Given the description of an element on the screen output the (x, y) to click on. 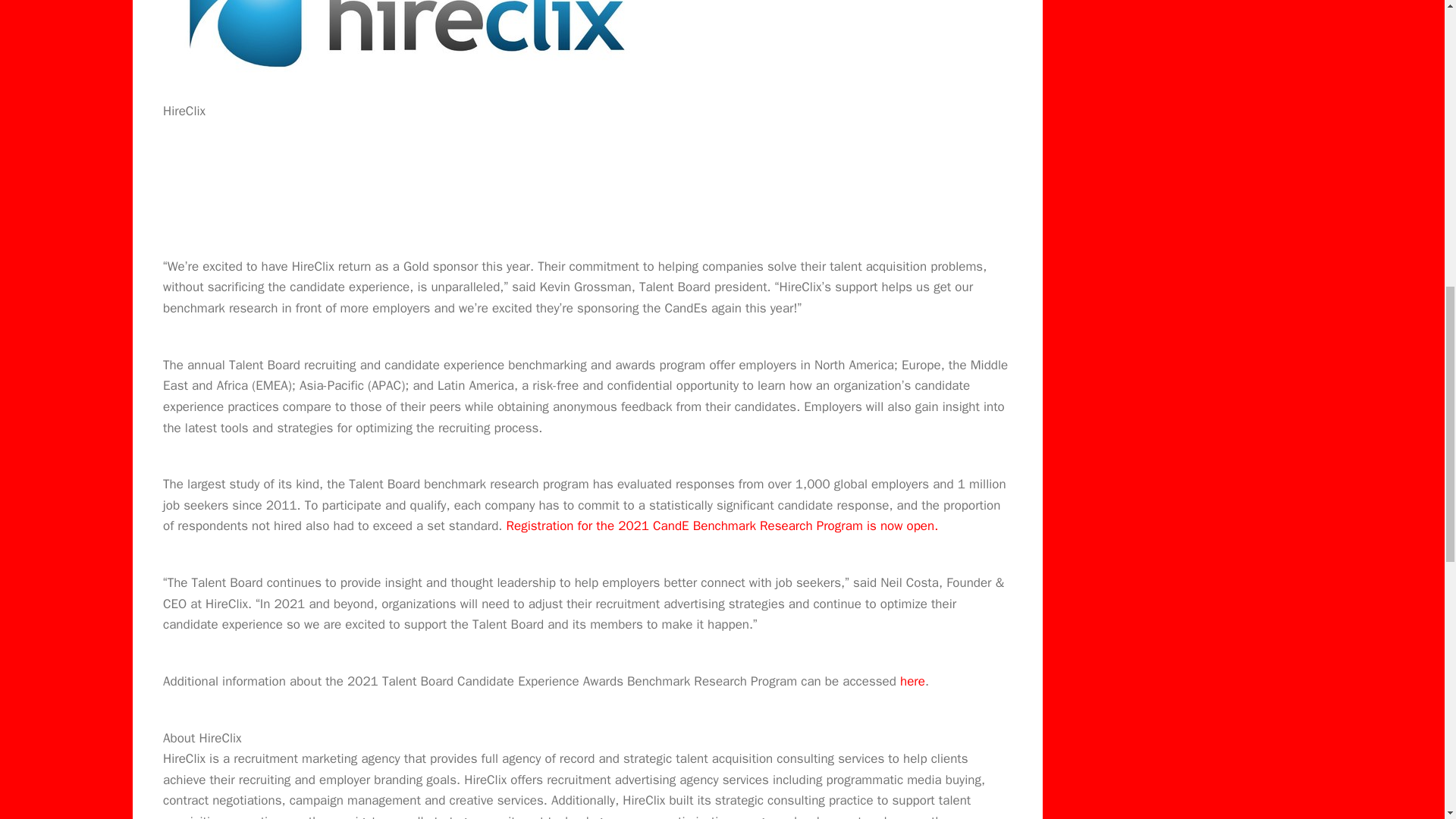
here (911, 681)
HireClix (409, 47)
